Given the description of an element on the screen output the (x, y) to click on. 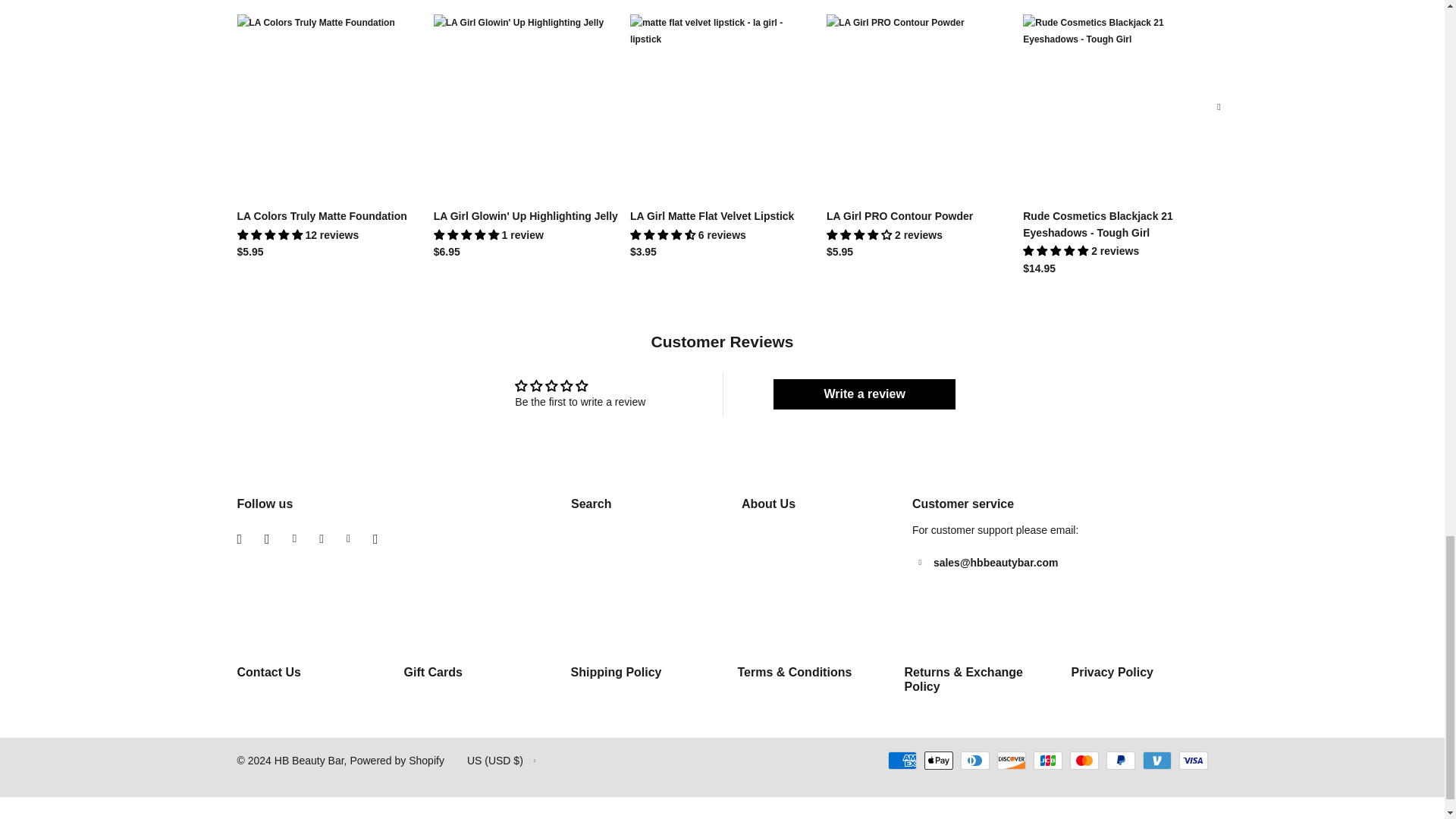
Visa (1192, 760)
Mastercard (1082, 760)
American Express (900, 760)
Diners Club (973, 760)
Discover (1010, 760)
Venmo (1155, 760)
PayPal (1119, 760)
JCB (1046, 760)
Apple Pay (937, 760)
